Given the description of an element on the screen output the (x, y) to click on. 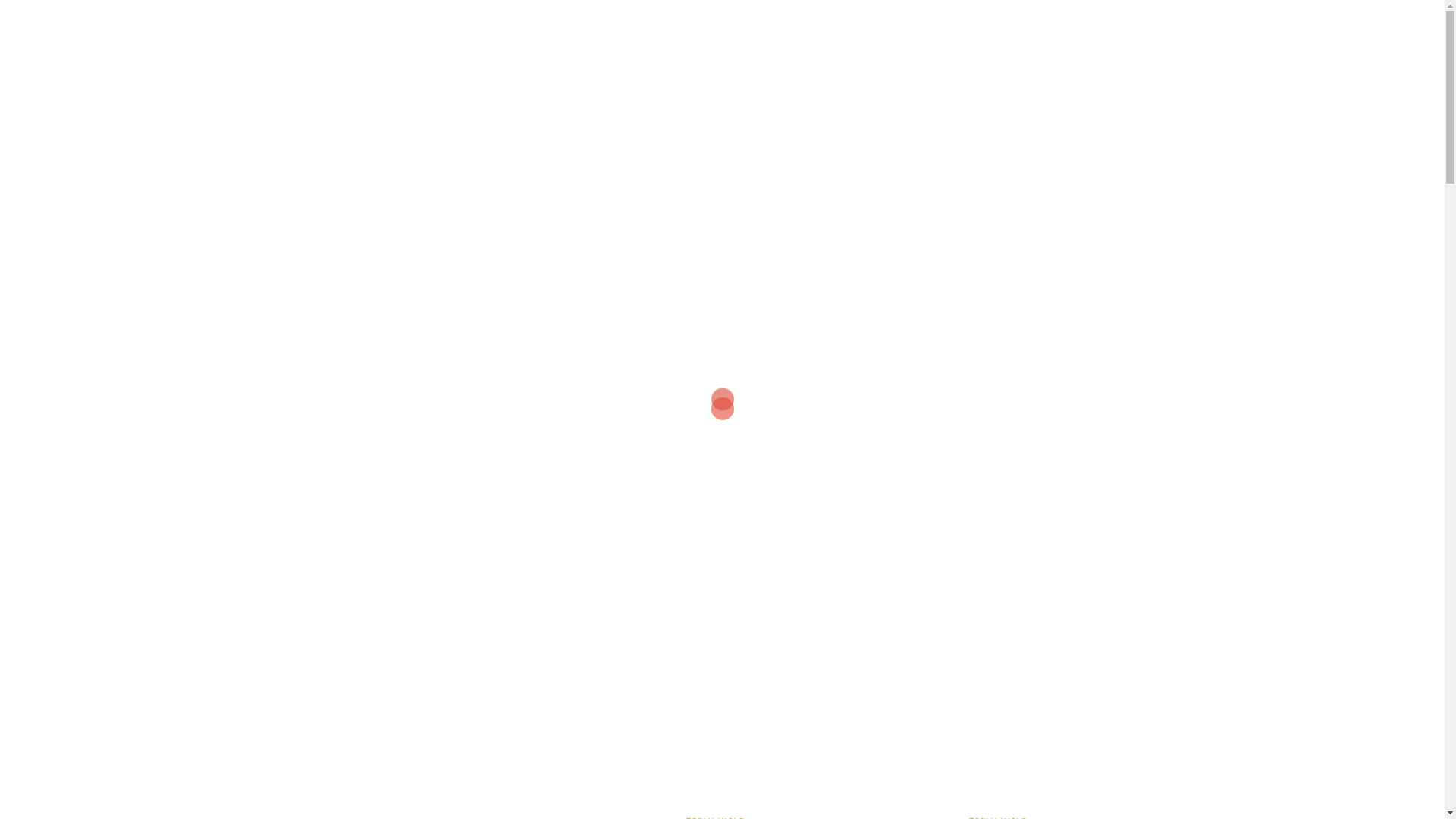
News Element type: text (1112, 63)
Our services Element type: text (965, 63)
Contact us Element type: text (1174, 63)
Make an appointment Element type: text (178, 426)
(514) 849 2525 Element type: text (1392, 23)
Home Element type: text (898, 63)
Our dentist Element type: text (1048, 63)
Make an appointment Element type: text (1360, 63)
Aux Petits Soins Dentaires Element type: hover (130, 60)
